Given the description of an element on the screen output the (x, y) to click on. 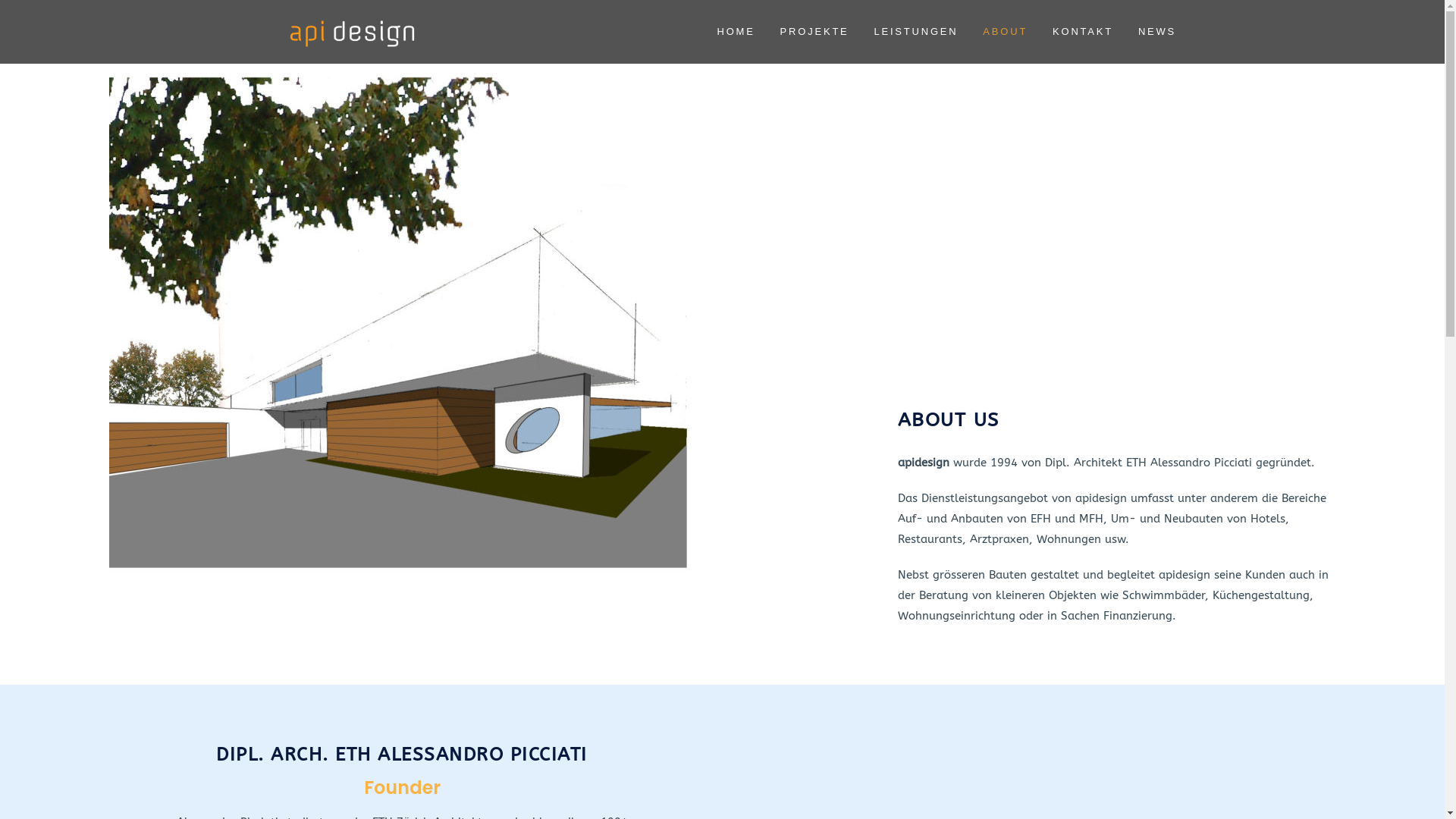
ABOUT Element type: text (1005, 31)
HOME Element type: text (735, 31)
PROJEKTE Element type: text (814, 31)
LEISTUNGEN Element type: text (915, 31)
NEWS Element type: text (1156, 31)
KONTAKT Element type: text (1083, 31)
